Given the description of an element on the screen output the (x, y) to click on. 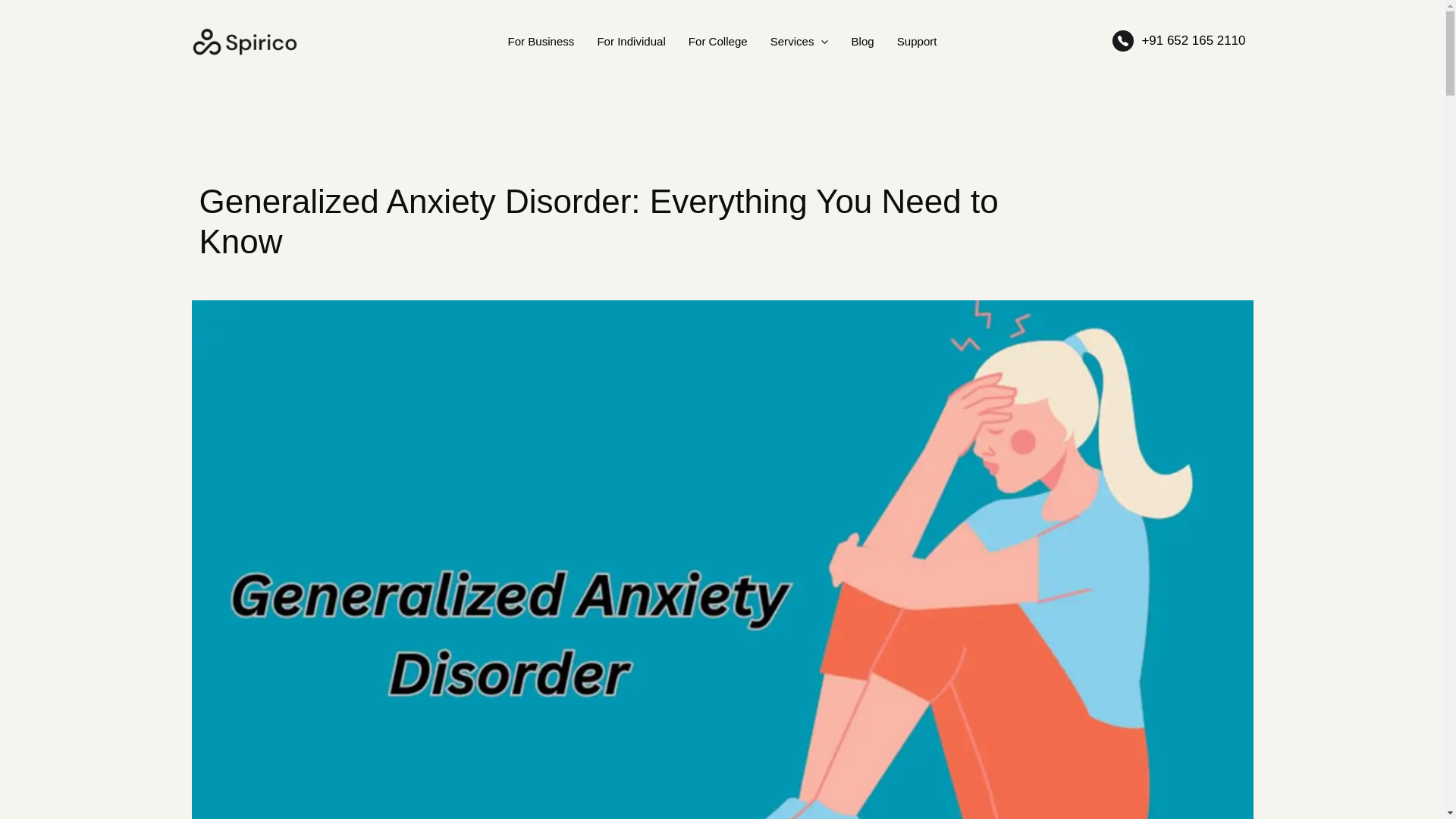
Services (799, 41)
Support (917, 41)
Blog (862, 41)
For Individual (631, 41)
For Business (540, 41)
For College (717, 41)
